Given the description of an element on the screen output the (x, y) to click on. 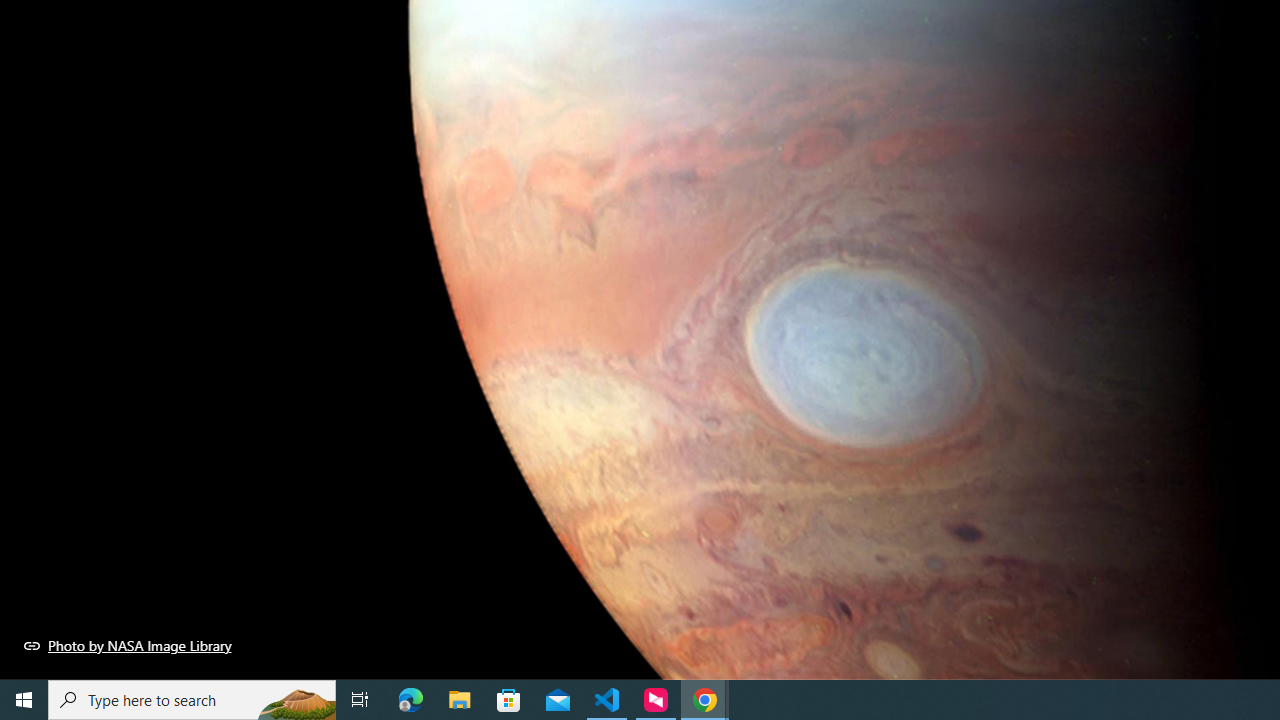
Photo by NASA Image Library (127, 645)
